Given the description of an element on the screen output the (x, y) to click on. 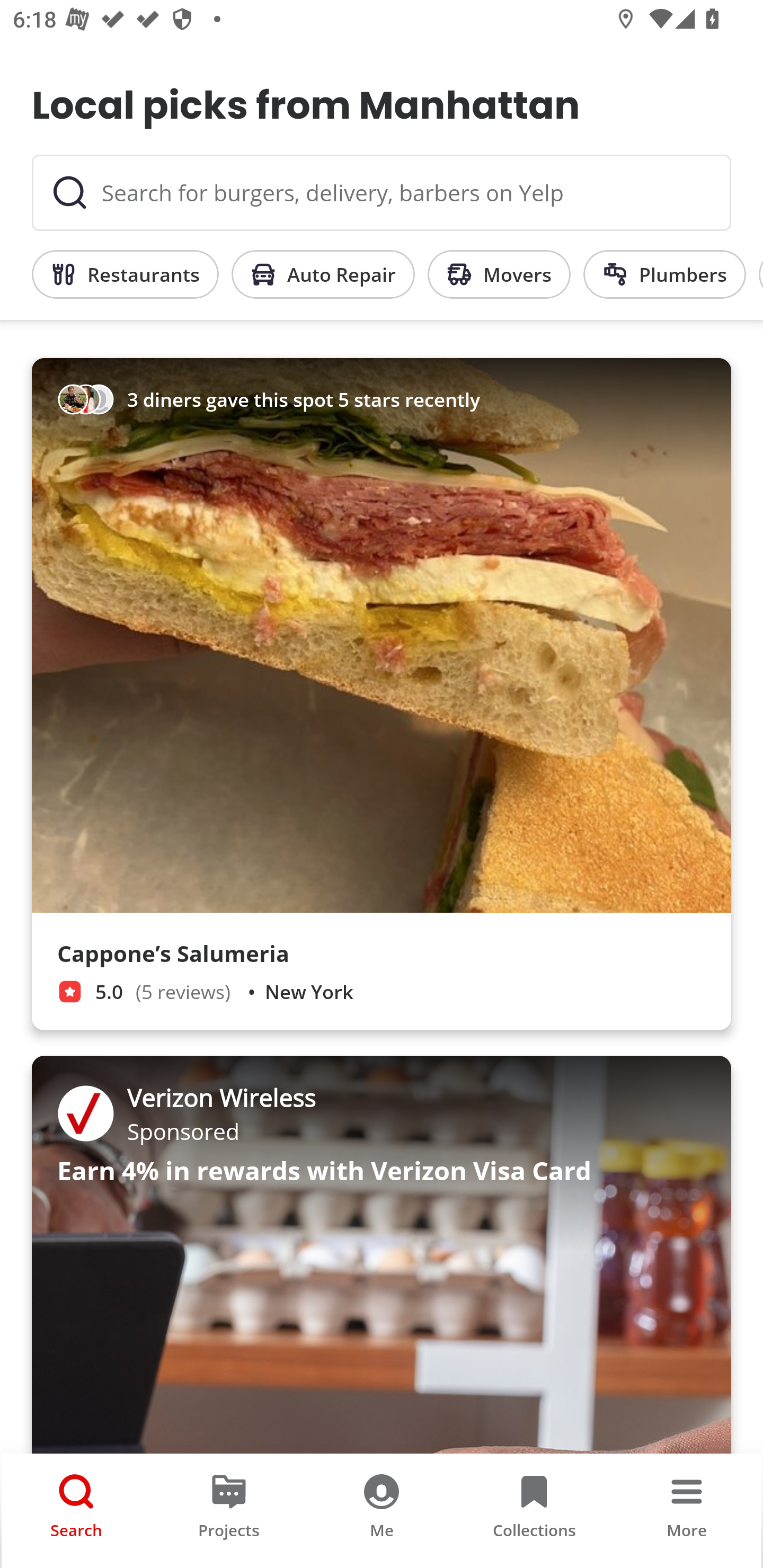
Search for burgers, delivery, barbers on Yelp (381, 192)
